Given the description of an element on the screen output the (x, y) to click on. 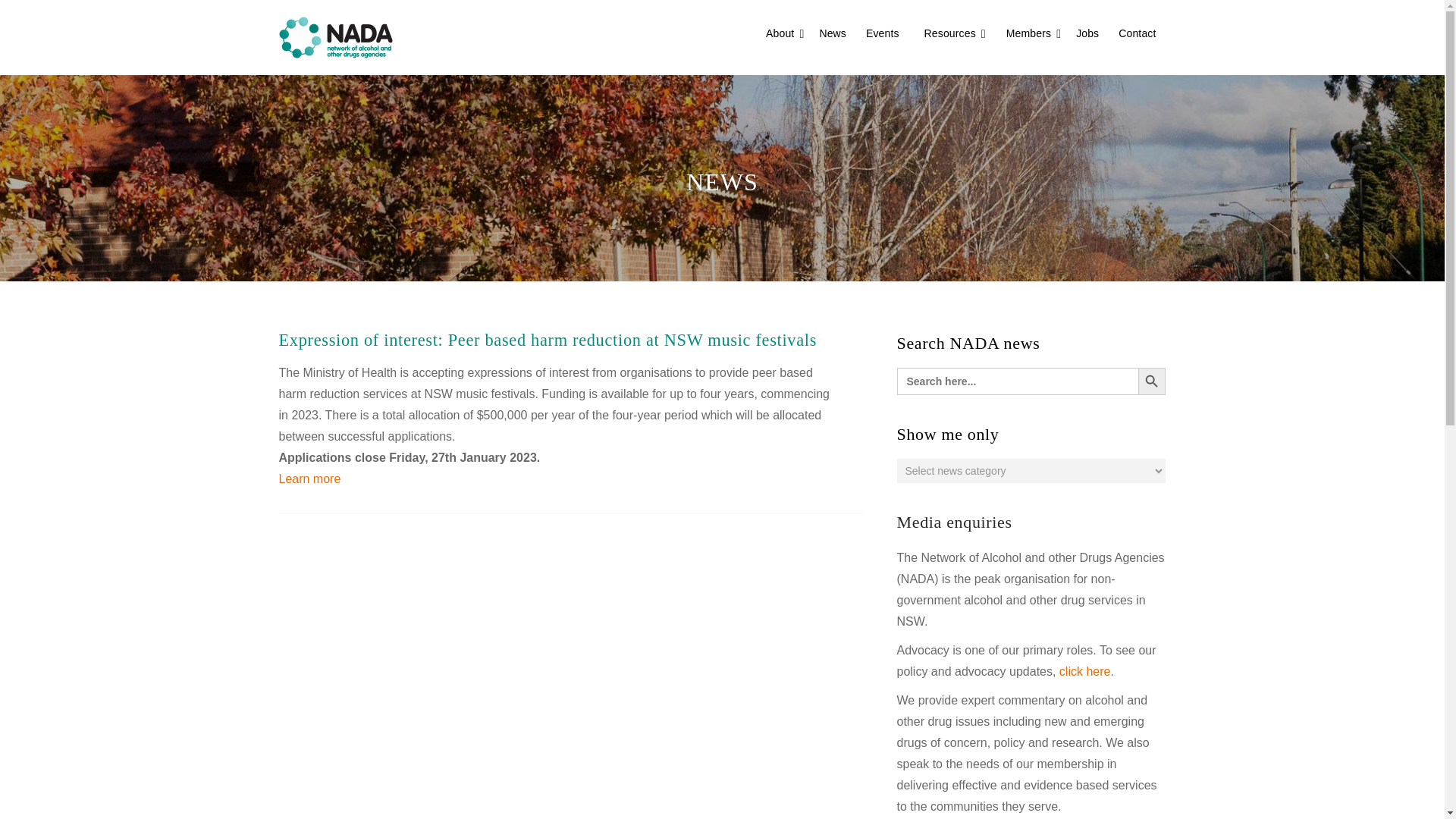
About (780, 33)
Jobs (1086, 33)
CharityPro (336, 37)
Contact (1137, 33)
Members (1028, 33)
Events (882, 33)
About (780, 33)
Resources (949, 33)
News (832, 33)
